Given the description of an element on the screen output the (x, y) to click on. 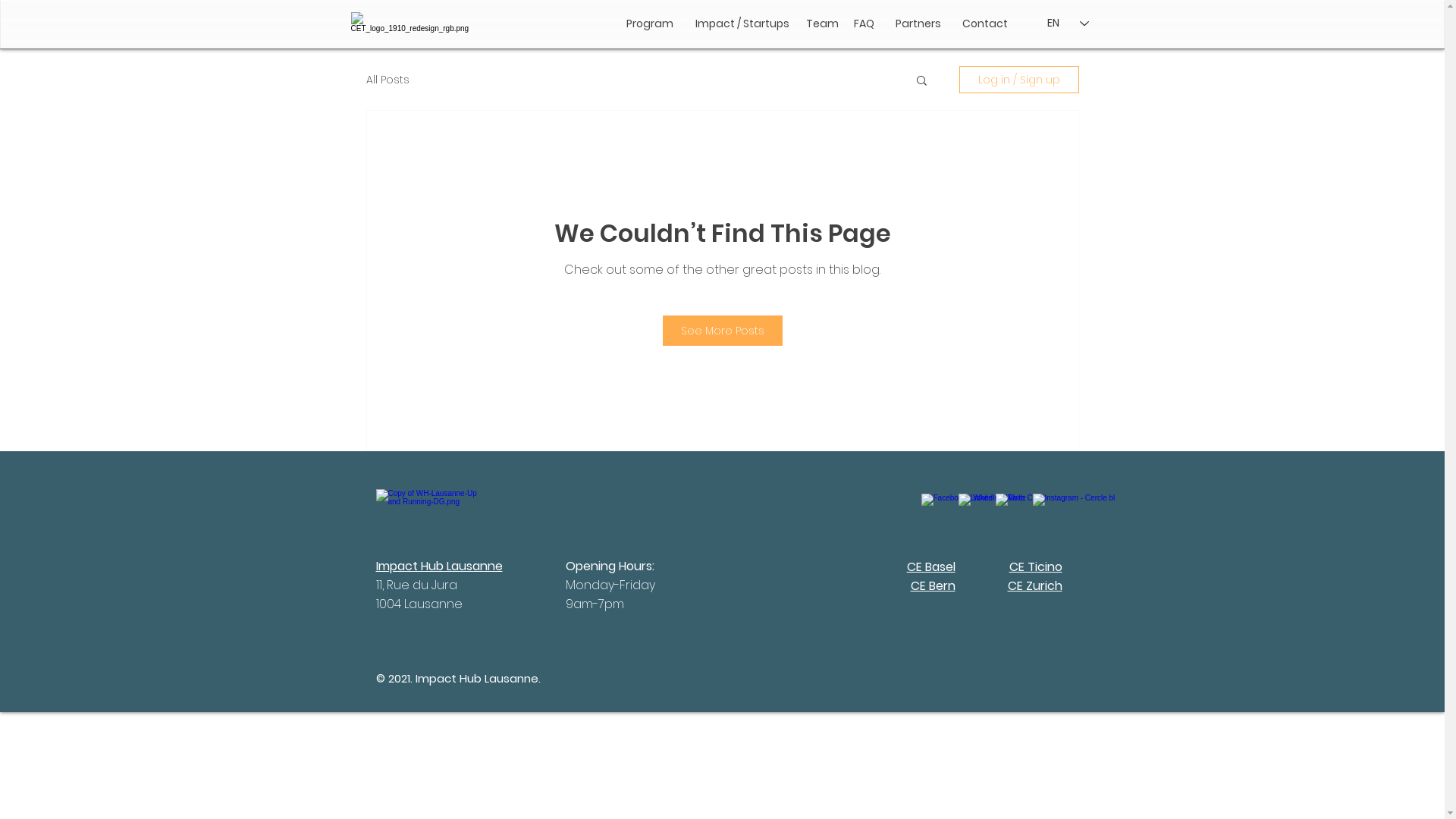
Log in / Sign up Element type: text (1018, 79)
Program Element type: text (649, 23)
CE Basel Element type: text (930, 566)
Impact Hub Lausanne Element type: text (439, 565)
Partners Element type: text (918, 23)
All Posts Element type: text (386, 79)
CE Bern Element type: text (932, 585)
CE Ticino Element type: text (1034, 566)
CE Zurich Element type: text (1034, 585)
FAQ Element type: text (863, 23)
Impact / Startups Element type: text (741, 23)
See More Posts Element type: text (722, 330)
Contact Element type: text (984, 23)
Team Element type: text (821, 23)
